Given the description of an element on the screen output the (x, y) to click on. 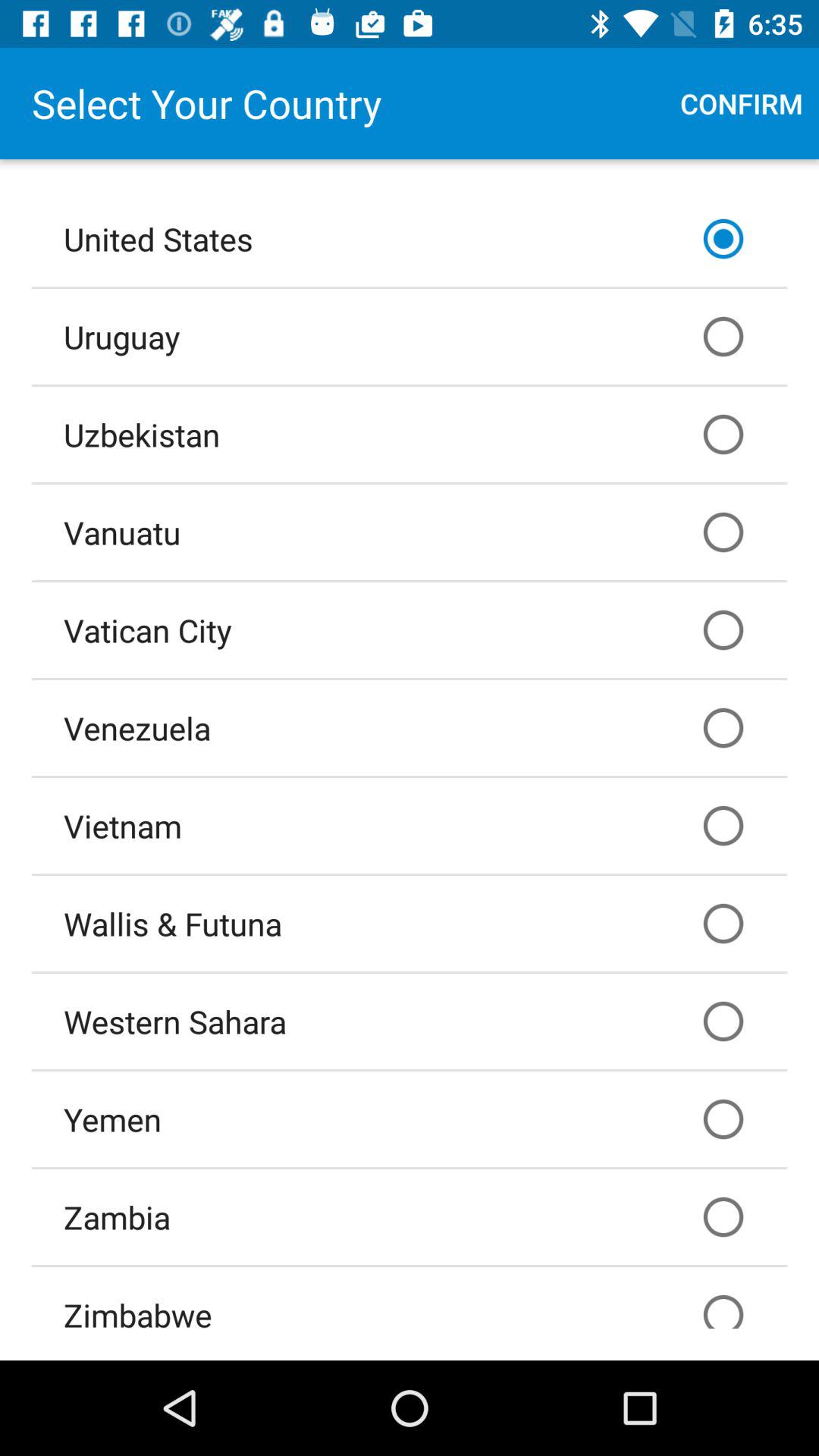
press the uruguay item (409, 336)
